Given the description of an element on the screen output the (x, y) to click on. 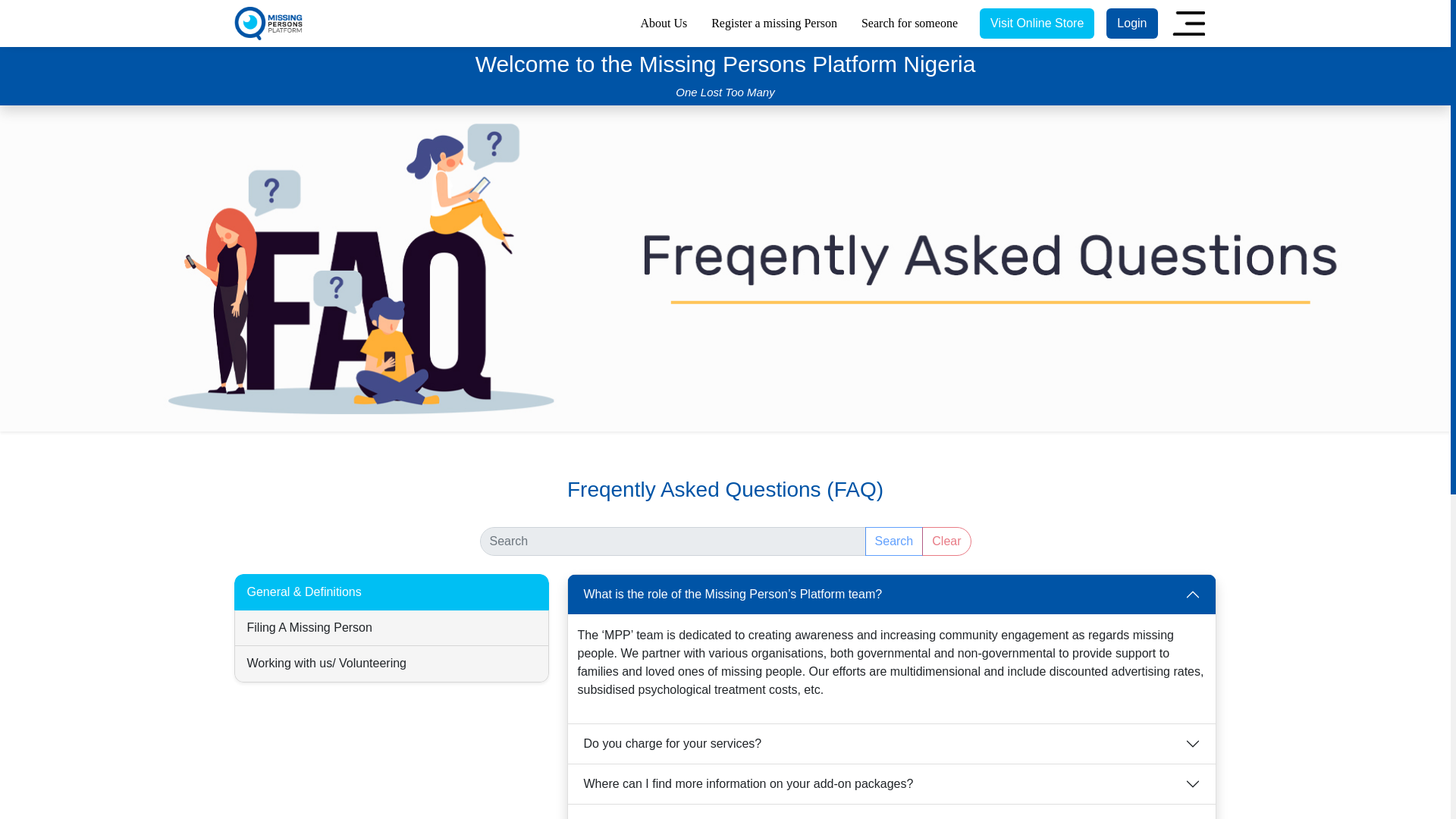
Visit Online Store (1036, 23)
Filing A Missing Person (390, 628)
Register a missing Person (773, 23)
Search for someone (908, 23)
About Us (662, 23)
Search (893, 541)
Login (1131, 23)
Clear (946, 541)
